Given the description of an element on the screen output the (x, y) to click on. 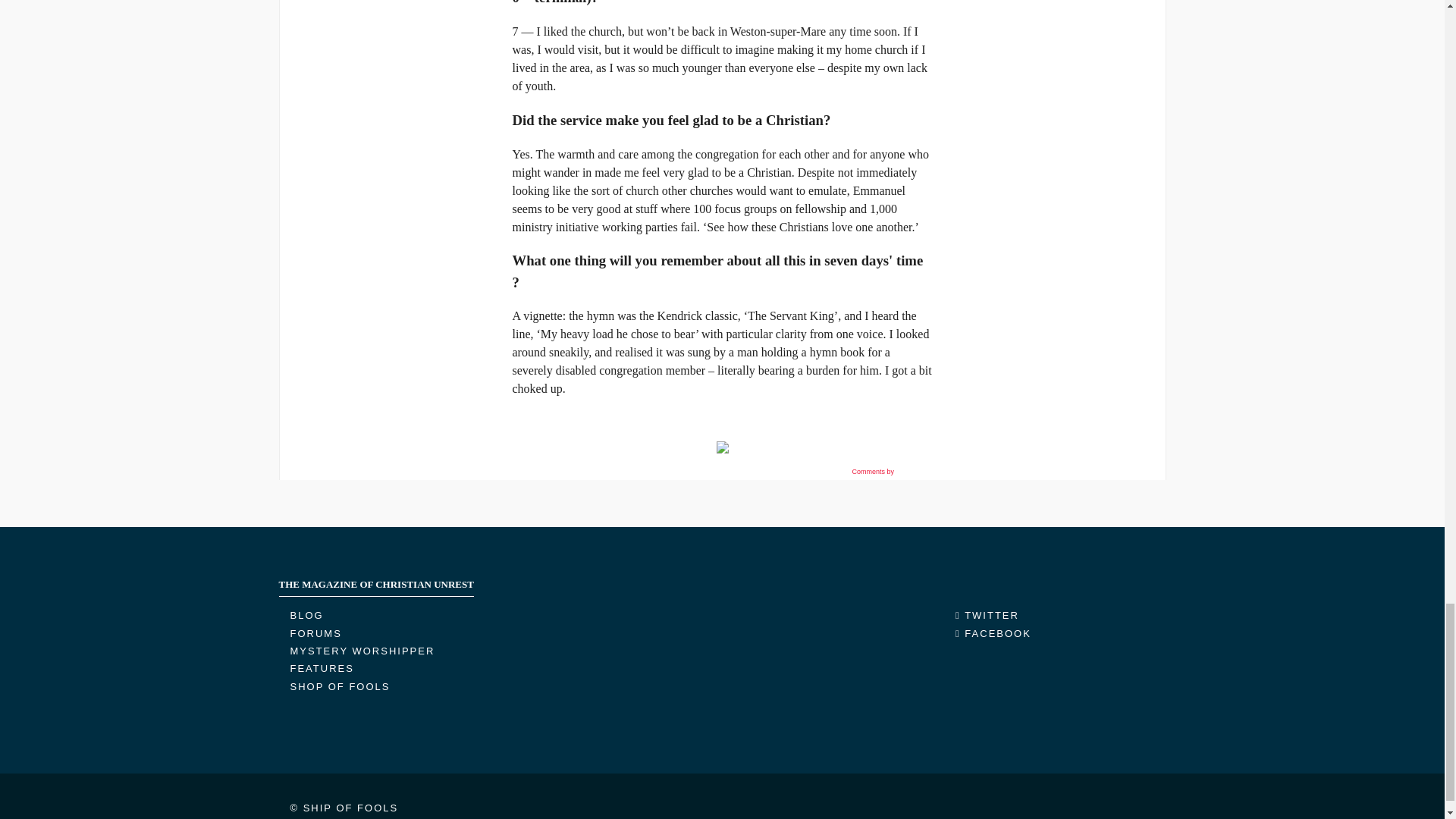
MYSTERY WORSHIPPER (361, 650)
SHOP OF FOOLS (339, 686)
FORUMS (314, 633)
FACEBOOK (992, 633)
TWITTER (987, 614)
FEATURES (321, 668)
BLOG (306, 614)
Comments by Vanilla (890, 471)
